Given the description of an element on the screen output the (x, y) to click on. 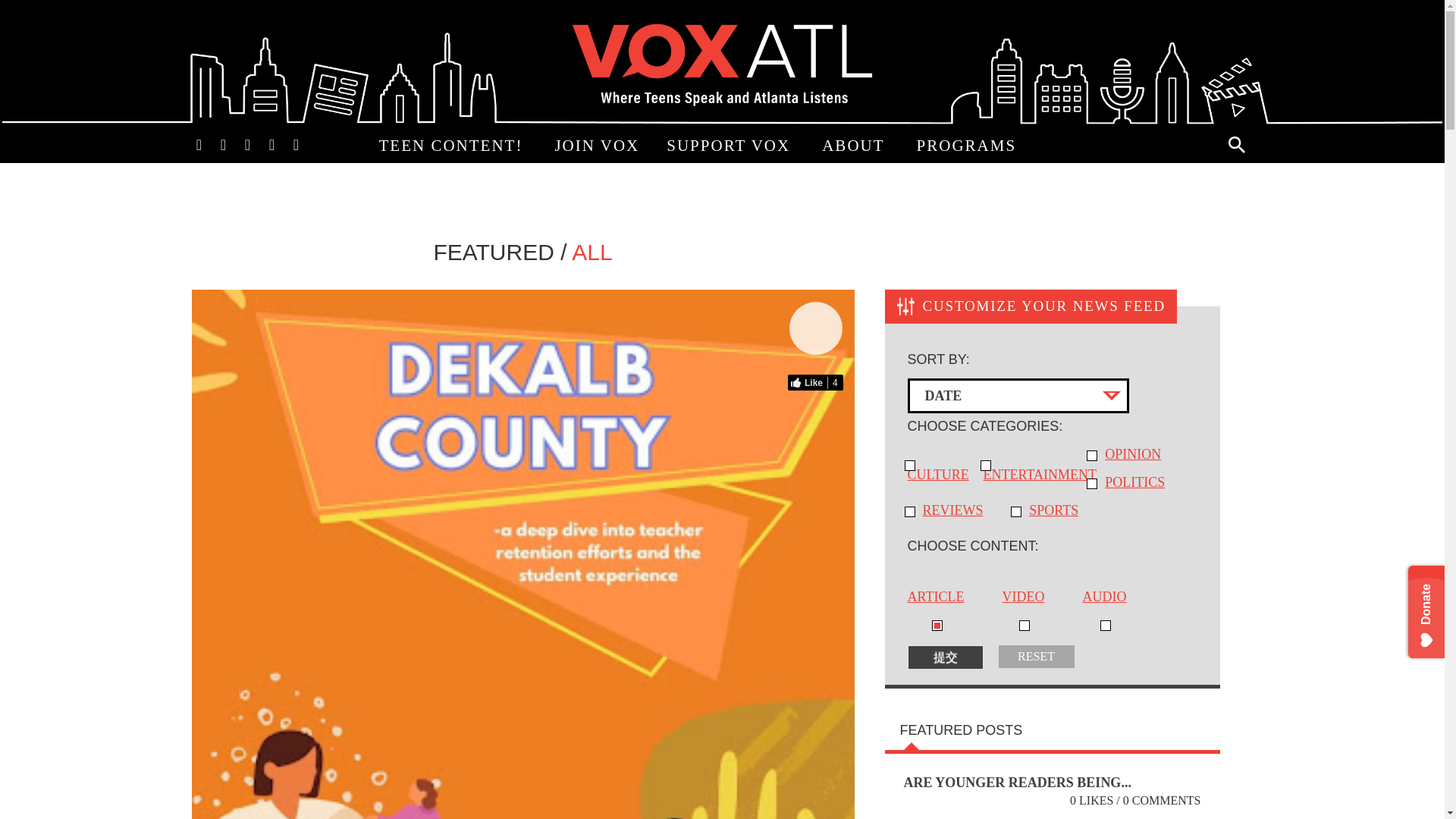
Subscribe to me on YouTube (271, 143)
Search (1236, 144)
Subscribe to me on YouTube (271, 143)
Add me on Snapchat (296, 143)
Follow me on Twitter (223, 143)
Friend me on Facebook (198, 143)
Add me on Snapchat (296, 143)
Follow me on Twitter (223, 143)
SUPPORT VOX (730, 146)
Follow me on Instagram (246, 143)
PROGRAMS (968, 146)
Friend me on Facebook (198, 143)
TEEN CONTENT! (453, 146)
Follow me on Instagram (246, 143)
